Given the description of an element on the screen output the (x, y) to click on. 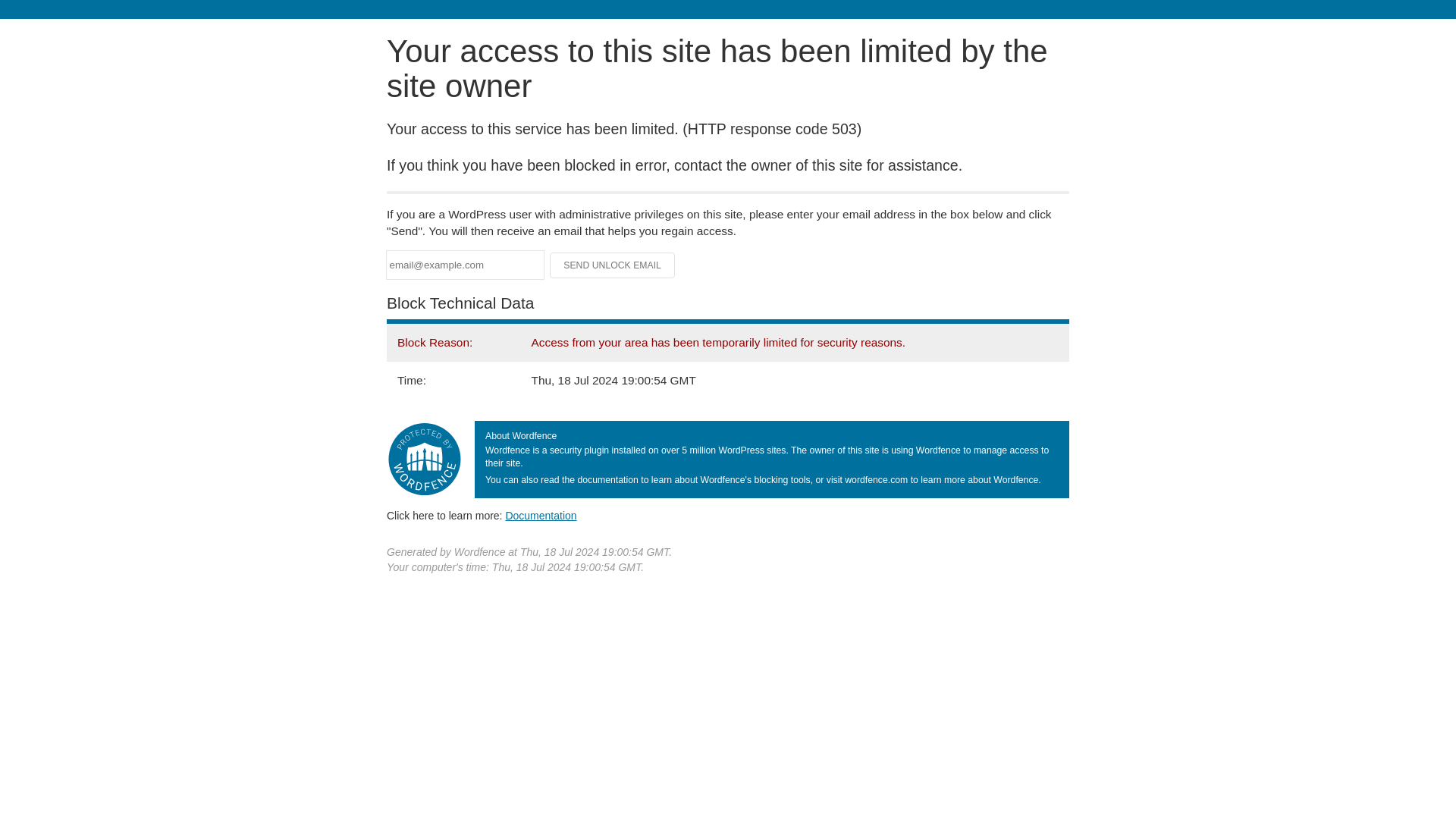
Send Unlock Email (612, 265)
Documentation (540, 515)
Send Unlock Email (612, 265)
